Given the description of an element on the screen output the (x, y) to click on. 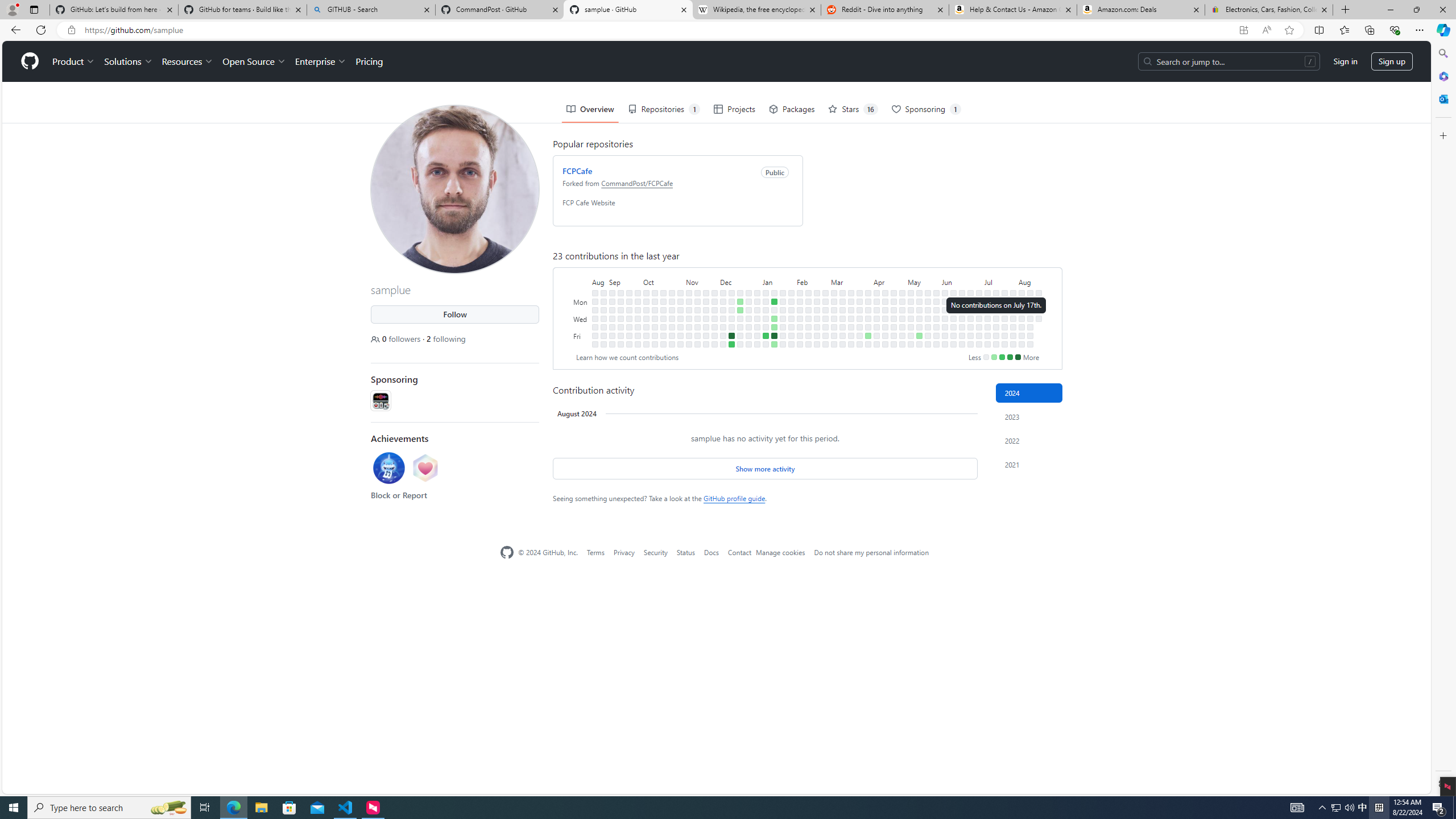
Friday (581, 335)
Day of Week (581, 280)
No contributions on November 23rd. (706, 326)
No contributions on September 20th. (628, 318)
No contributions on February 29th. (825, 326)
No contributions on February 8th. (799, 326)
No contributions on May 16th. (919, 326)
No contributions on December 2nd. (714, 343)
No contributions on March 13th. (842, 318)
No contributions on March 4th. (834, 301)
No contributions on March 9th. (834, 343)
Contribution activity in 2024 (1028, 392)
No contributions on October 6th. (646, 335)
No contributions on October 7th. (646, 343)
